Given the description of an element on the screen output the (x, y) to click on. 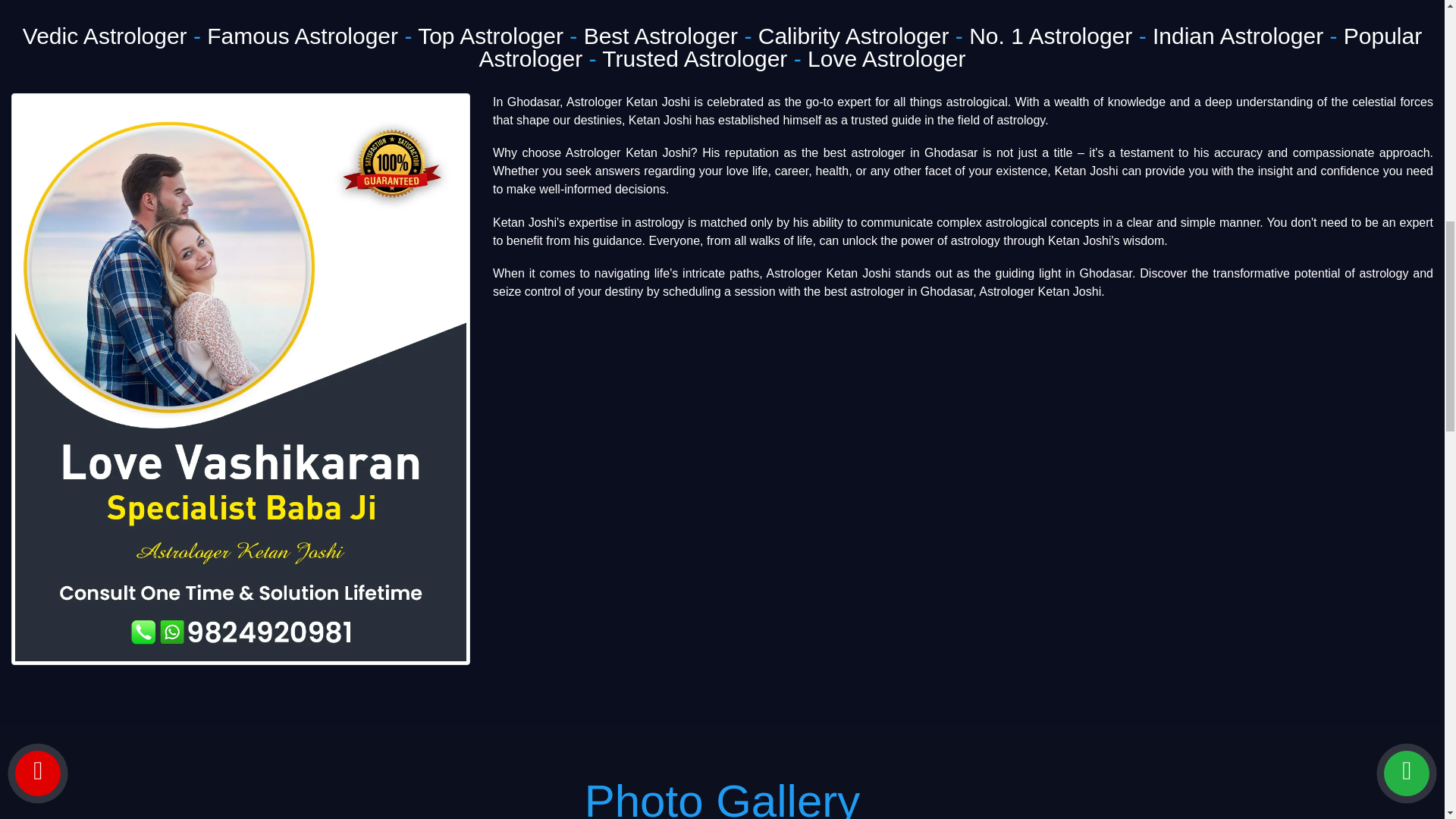
No. 1 Astrologer (1050, 35)
Love Astrologer (886, 58)
Top Astrologer (490, 35)
Popular Astrologer (950, 47)
Best Astrologer (660, 35)
Famous Astrologer (301, 35)
Vedic Astrologer (105, 35)
Calibrity Astrologer (853, 35)
Indian Astrologer (1238, 35)
Trusted Astrologer (694, 58)
